Given the description of an element on the screen output the (x, y) to click on. 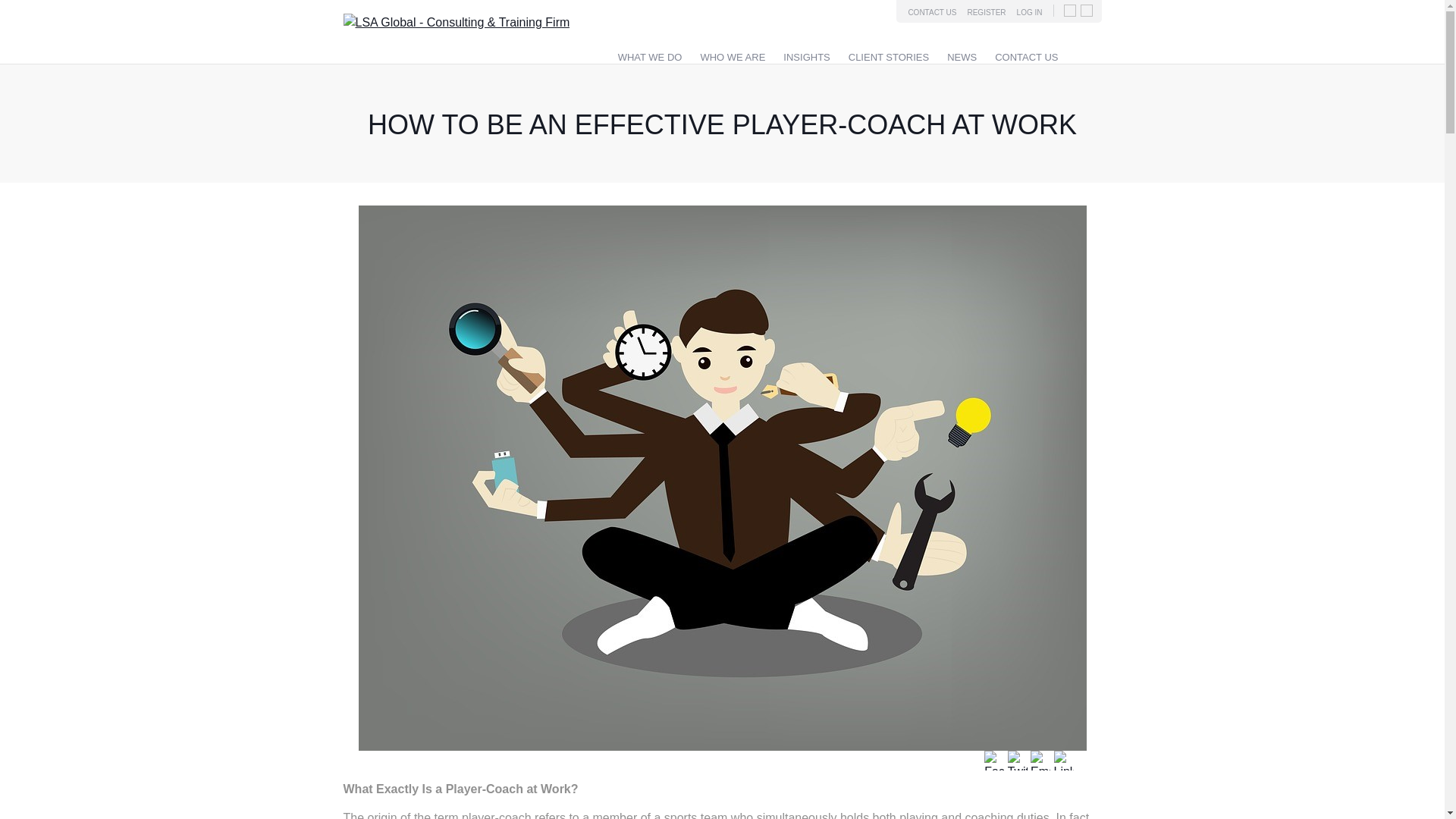
NEWS (961, 57)
Who We Are (732, 57)
SEARCH (1082, 55)
INSIGHTS (806, 57)
WHAT WE DO (649, 57)
News (961, 57)
Client Stories (888, 57)
CLIENT STORIES (888, 57)
Return to the homepage (455, 21)
CONTACT US (1026, 57)
